Given the description of an element on the screen output the (x, y) to click on. 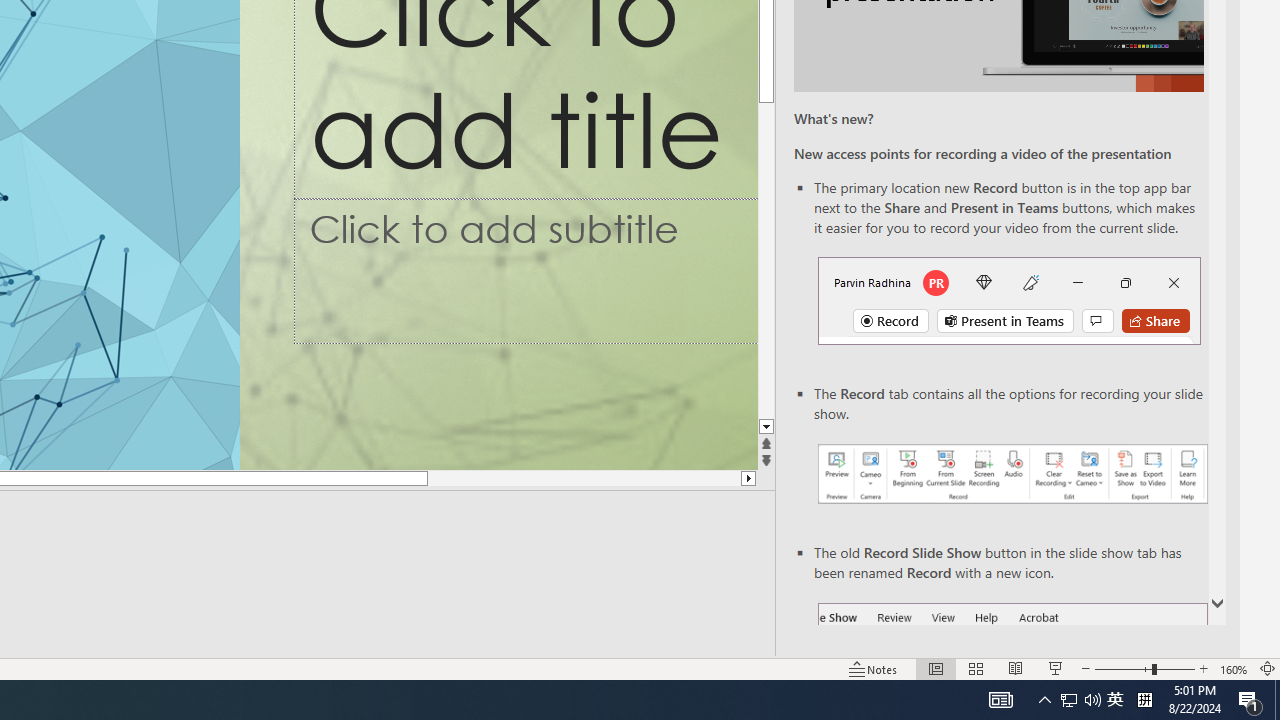
Record button in top bar (1008, 300)
Record your presentations screenshot one (1012, 473)
